Given the description of an element on the screen output the (x, y) to click on. 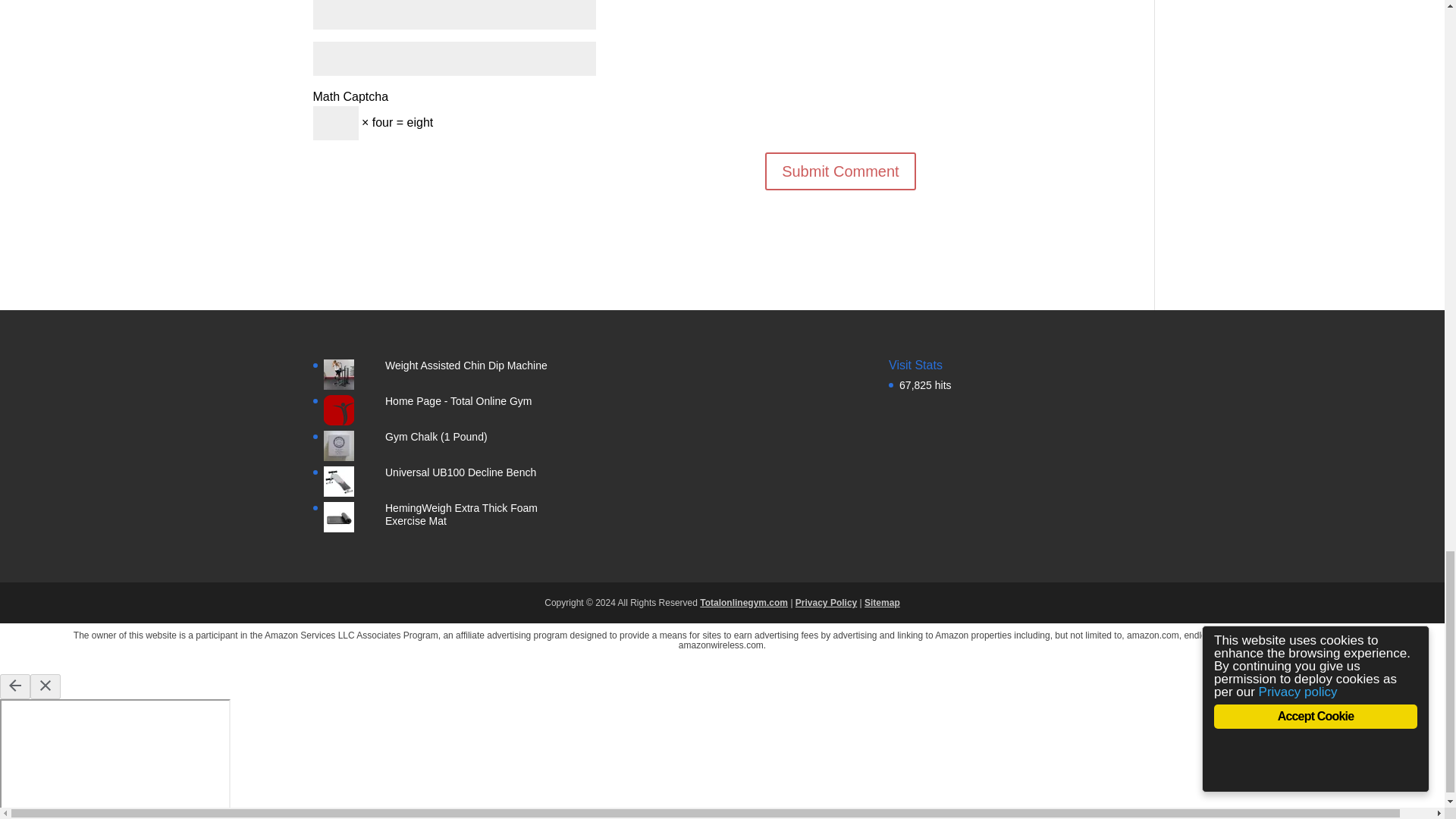
Home Page - Total Online Gym (458, 400)
Submit Comment (840, 171)
Weight Assisted Chin Dip Machine (466, 365)
